Given the description of an element on the screen output the (x, y) to click on. 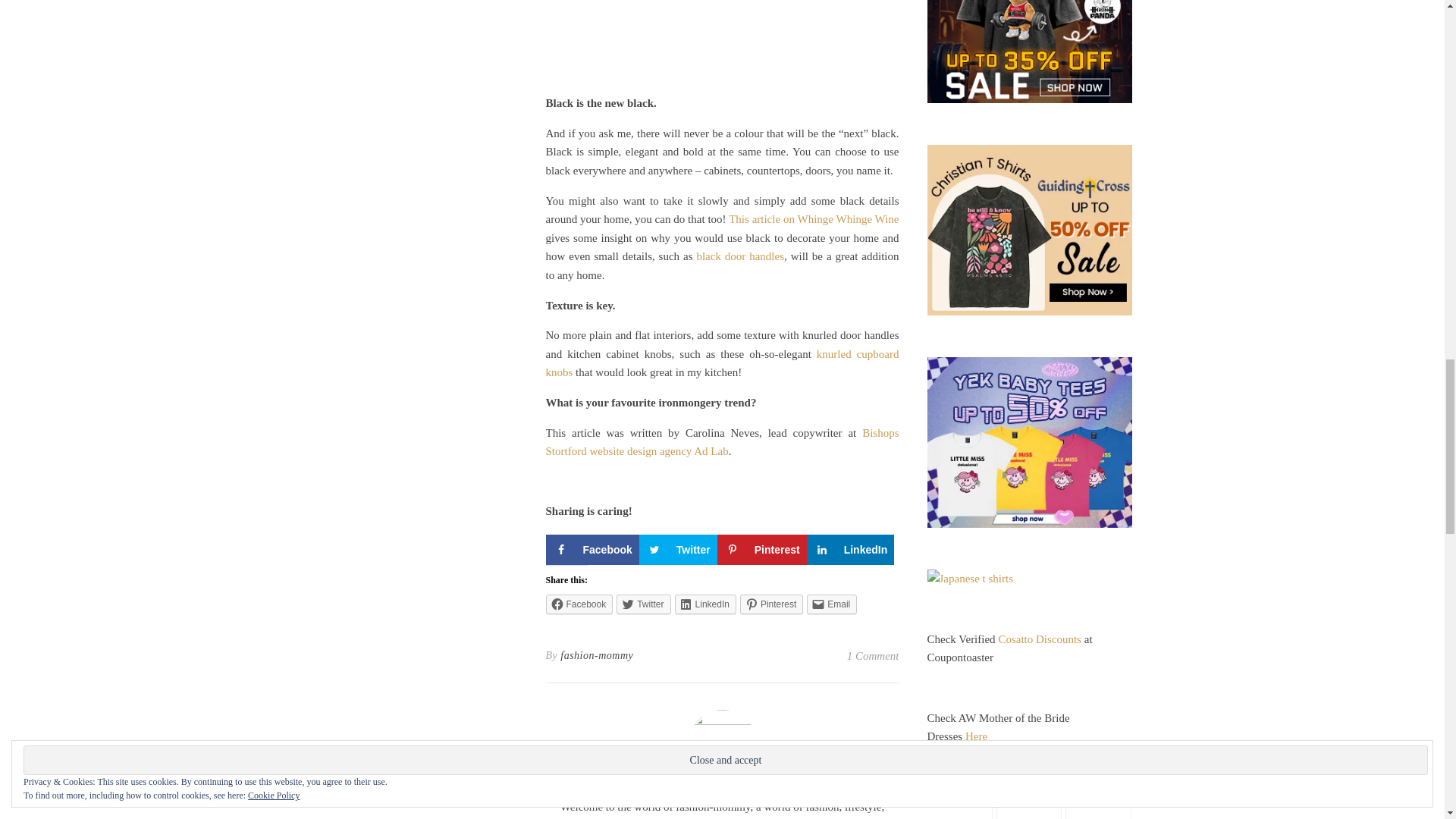
Share on LinkedIn (850, 549)
FASHION-MOMMY (722, 787)
Twitter (642, 604)
1 Comment (873, 655)
Posts by fashion-mommy (596, 655)
LinkedIn (850, 549)
Share on Twitter (678, 549)
Twitter (678, 549)
Facebook (579, 604)
black door handles (739, 256)
Save to Pinterest (761, 549)
Email (831, 604)
Click to share on LinkedIn (705, 604)
Click to email this to a friend (831, 604)
Share on Facebook (592, 549)
